Given the description of an element on the screen output the (x, y) to click on. 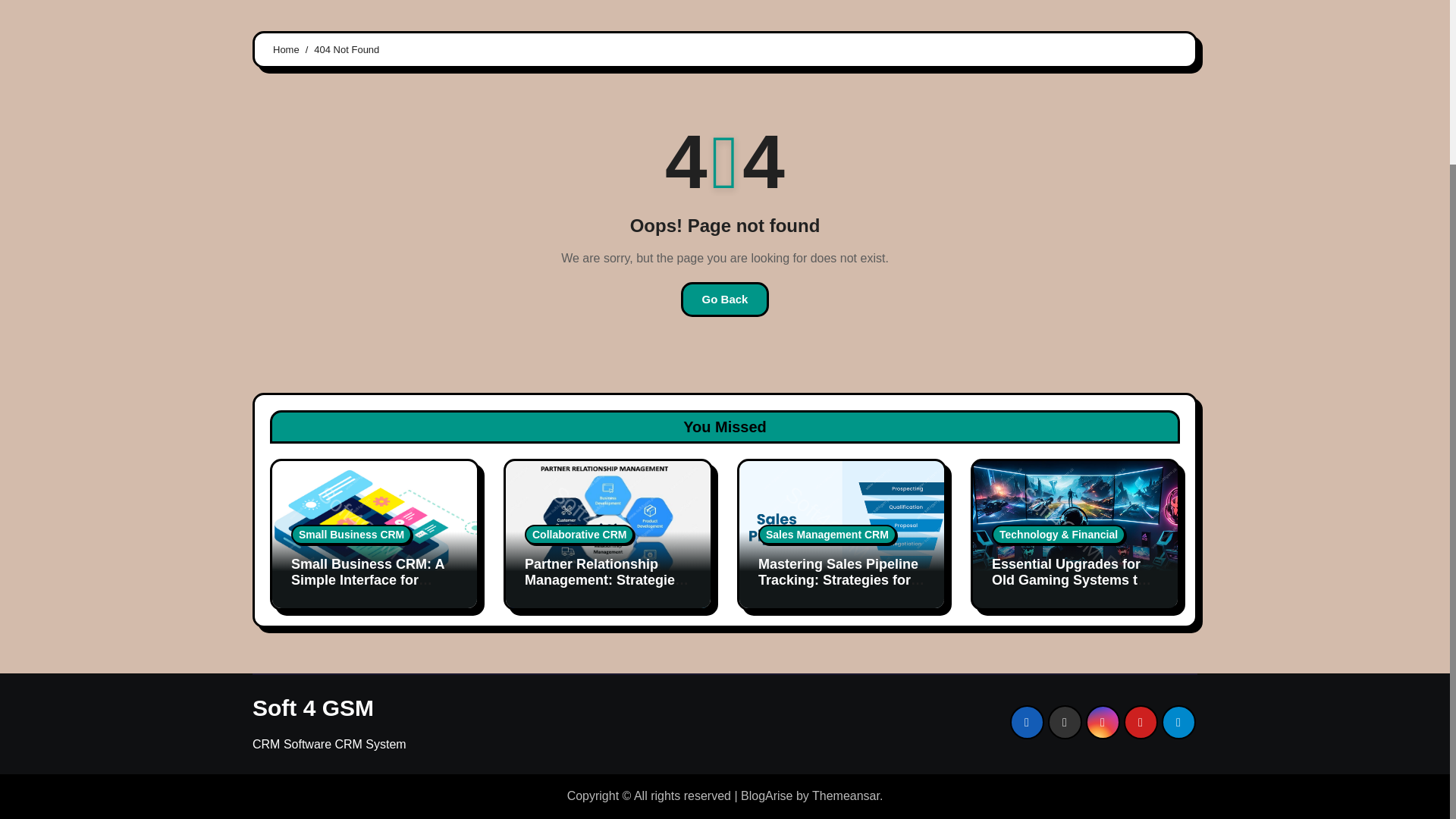
Go Back (725, 298)
Small Business CRM (351, 534)
Sales Management CRM (827, 534)
Home (286, 49)
BlogArise (766, 795)
Soft 4 GSM (312, 707)
